Given the description of an element on the screen output the (x, y) to click on. 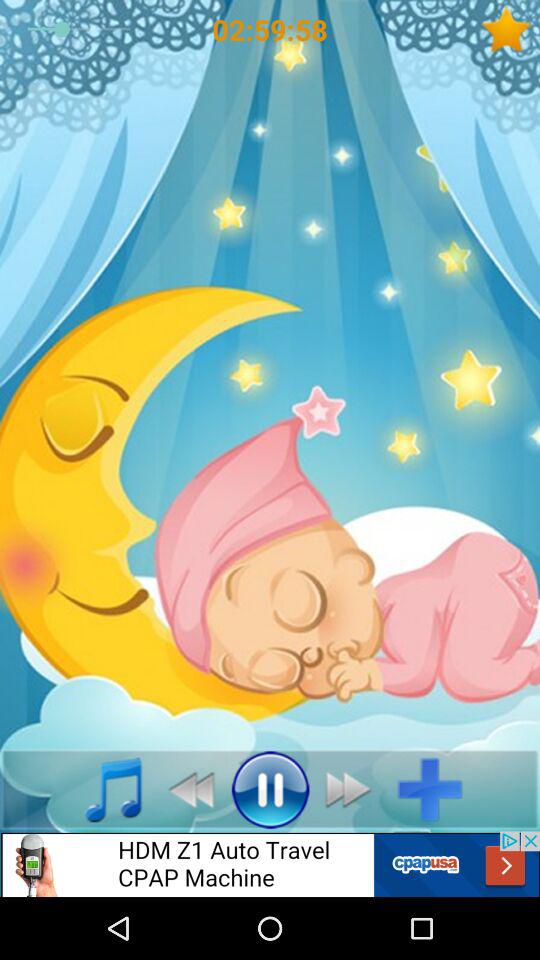
add element (438, 789)
